Given the description of an element on the screen output the (x, y) to click on. 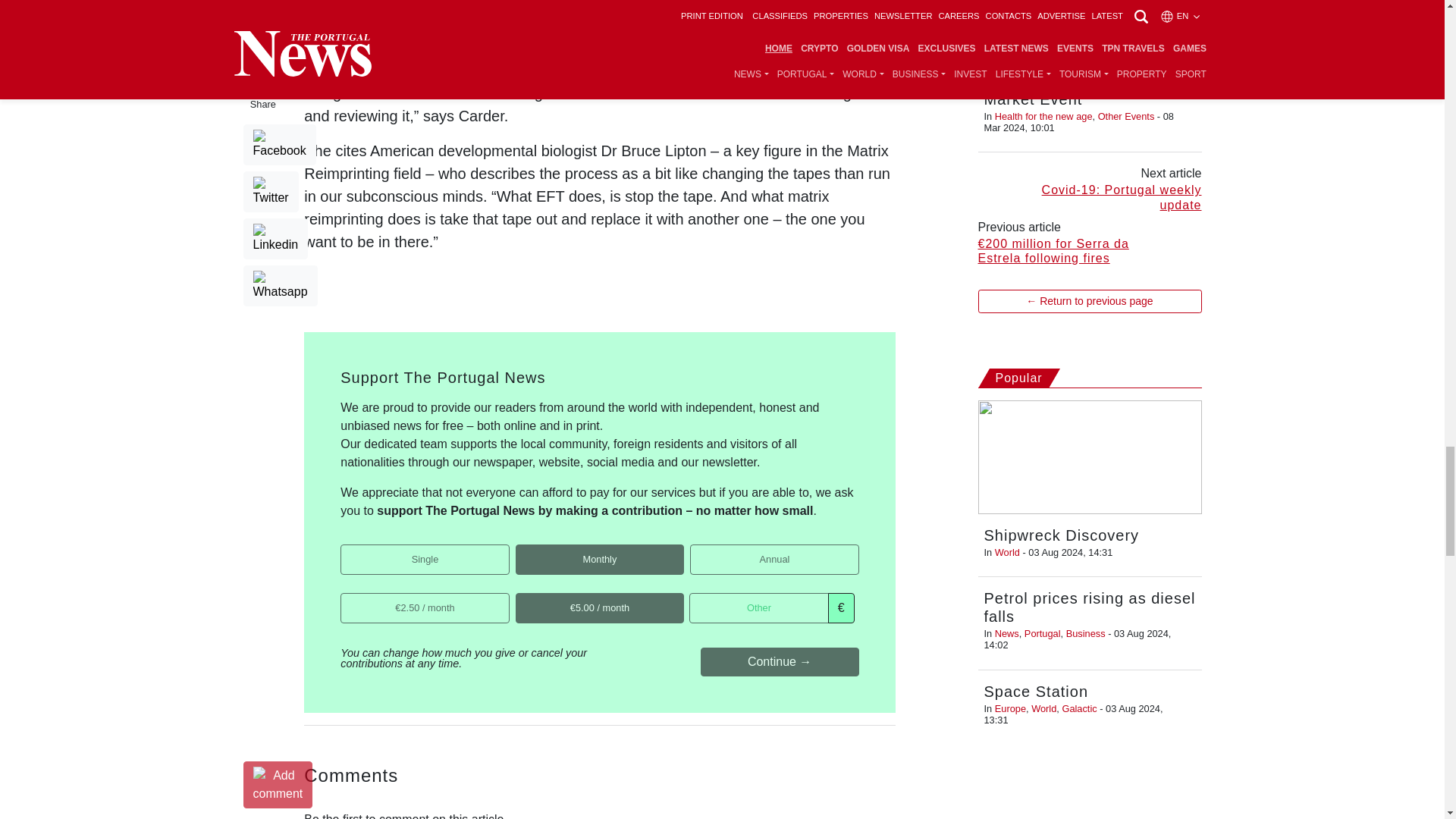
P-6T2758016F920900CMGGQYMQ (520, 549)
2.5 (345, 597)
5 (520, 597)
single (345, 549)
P-18662245734186221MGVD6SI (695, 549)
